Given the description of an element on the screen output the (x, y) to click on. 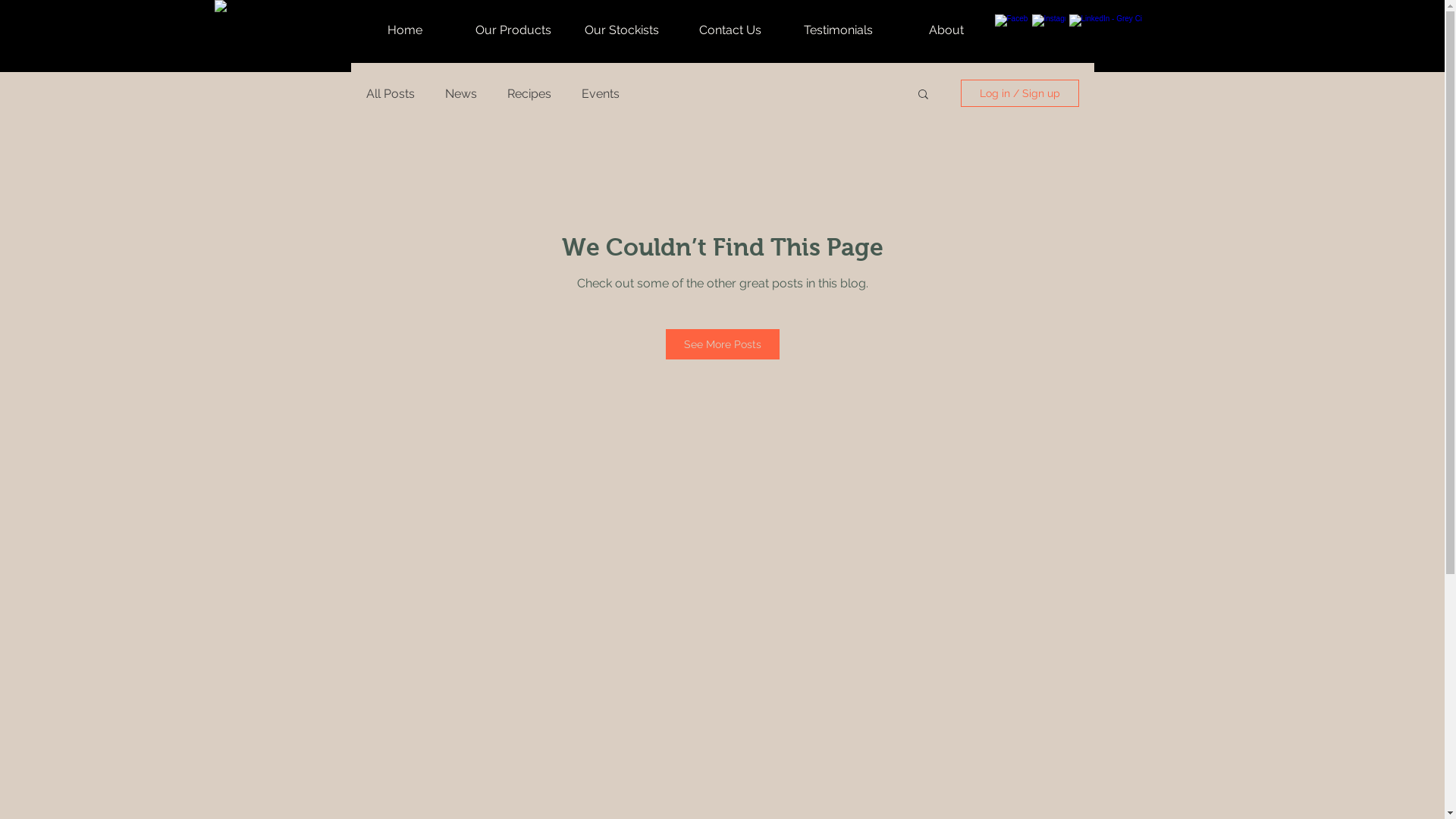
Events Element type: text (599, 93)
Contact Us Element type: text (730, 30)
Our Products Element type: text (513, 30)
About Element type: text (945, 30)
News Element type: text (460, 93)
See More Posts Element type: text (722, 344)
All Posts Element type: text (389, 93)
Testimonials Element type: text (837, 30)
Recipes Element type: text (528, 93)
Log in / Sign up Element type: text (1019, 92)
Our Stockists Element type: text (621, 30)
Home Element type: text (404, 30)
